Given the description of an element on the screen output the (x, y) to click on. 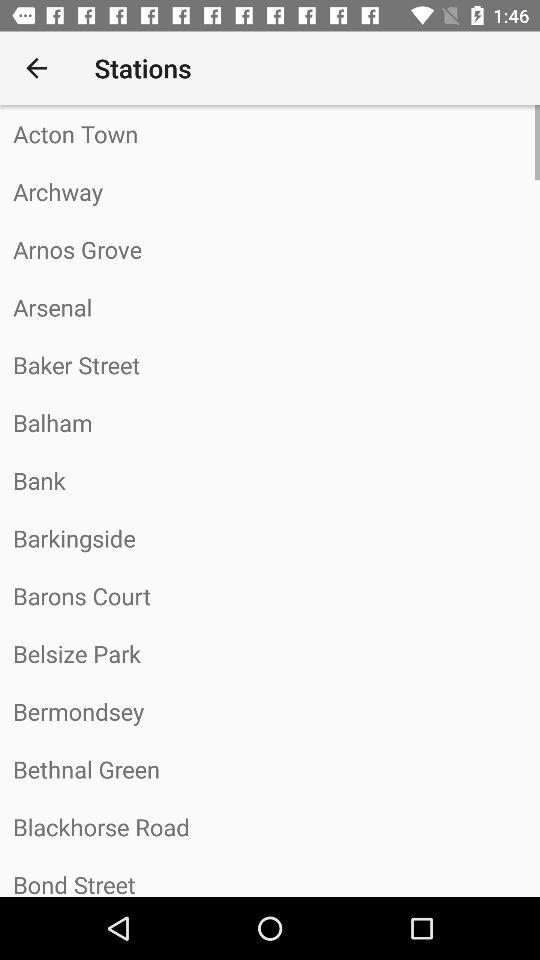
launch the icon below the blackhorse road item (270, 875)
